Given the description of an element on the screen output the (x, y) to click on. 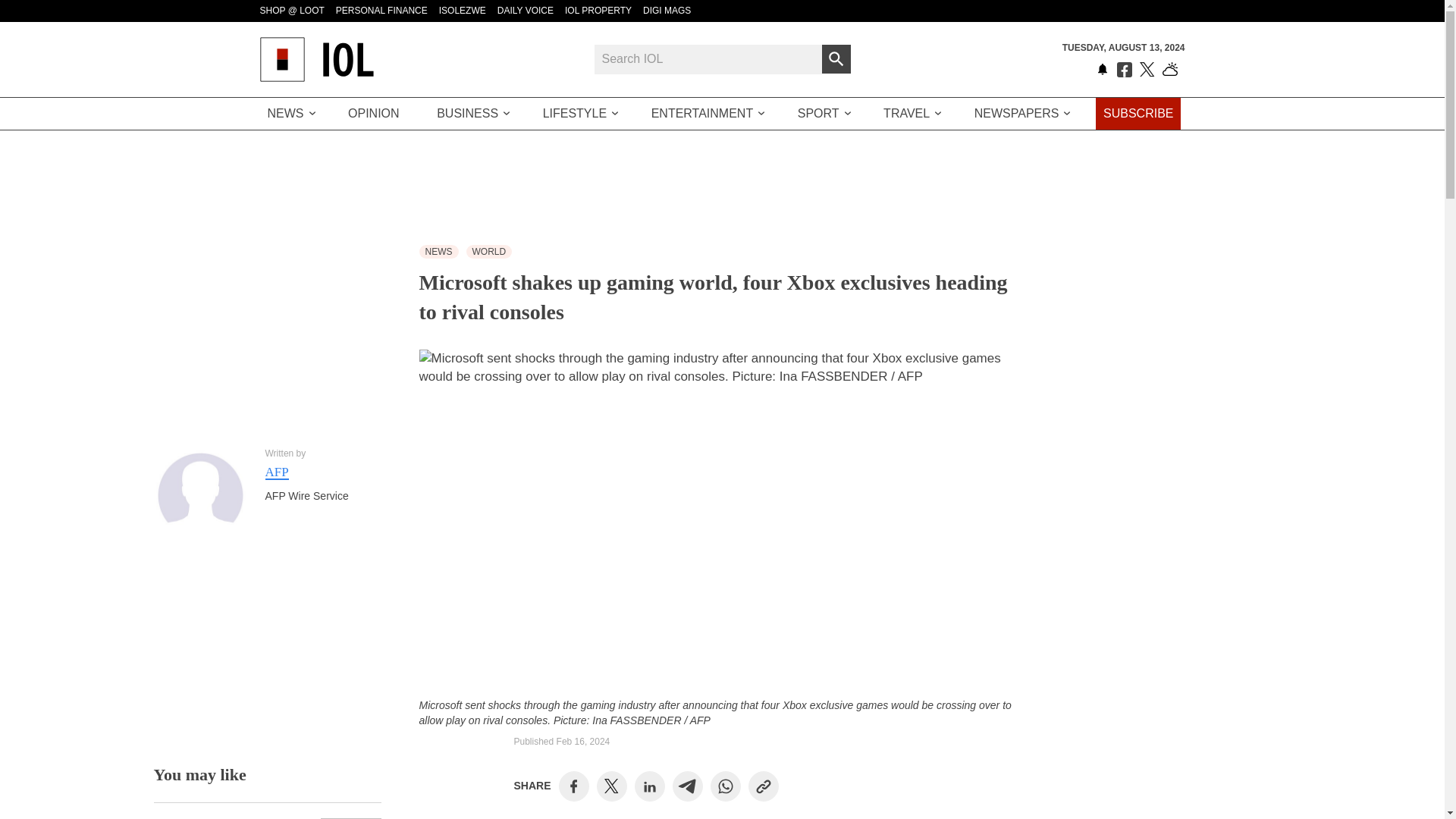
Share on Telegram (686, 786)
Follow us on Twitter (1147, 69)
Share on WhatsApp (725, 786)
Share on Twitter (611, 785)
Copy to Clipboard (763, 786)
Like us on Facebook (1124, 69)
Share on Facebook (573, 786)
Share on LinkedIn (648, 786)
